Given the description of an element on the screen output the (x, y) to click on. 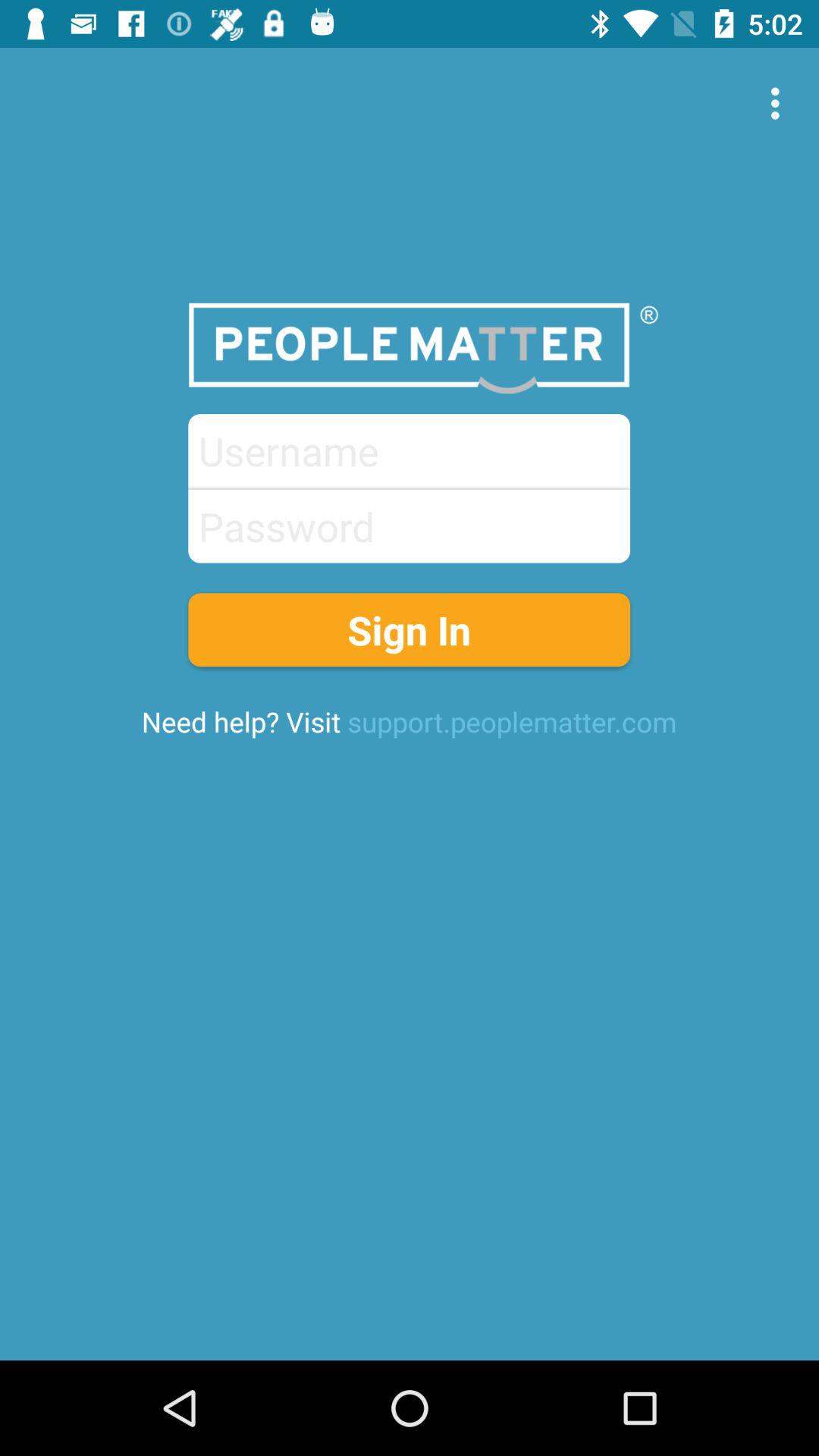
jump to the need help visit (408, 721)
